Given the description of an element on the screen output the (x, y) to click on. 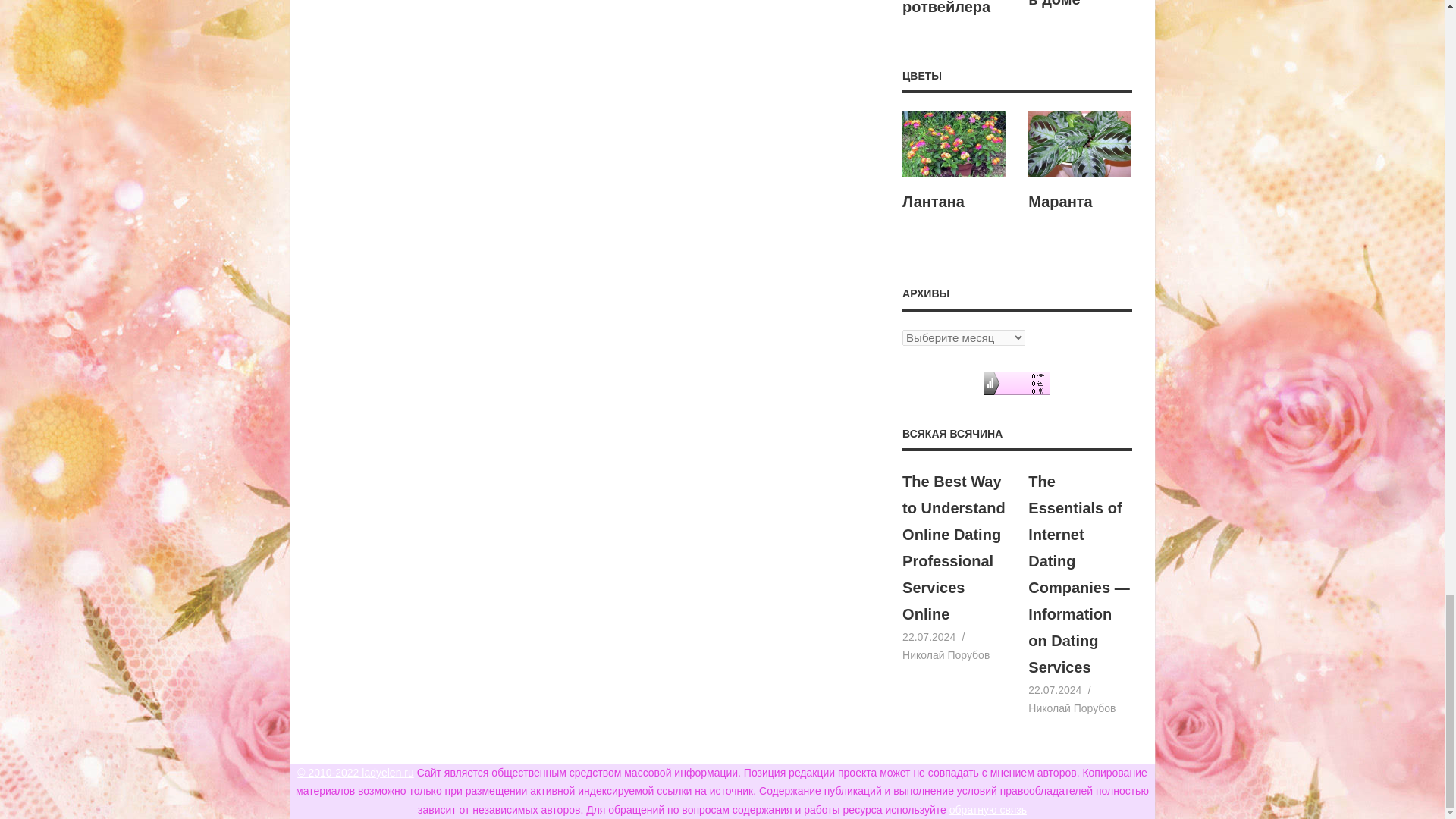
03:00 (928, 636)
